Given the description of an element on the screen output the (x, y) to click on. 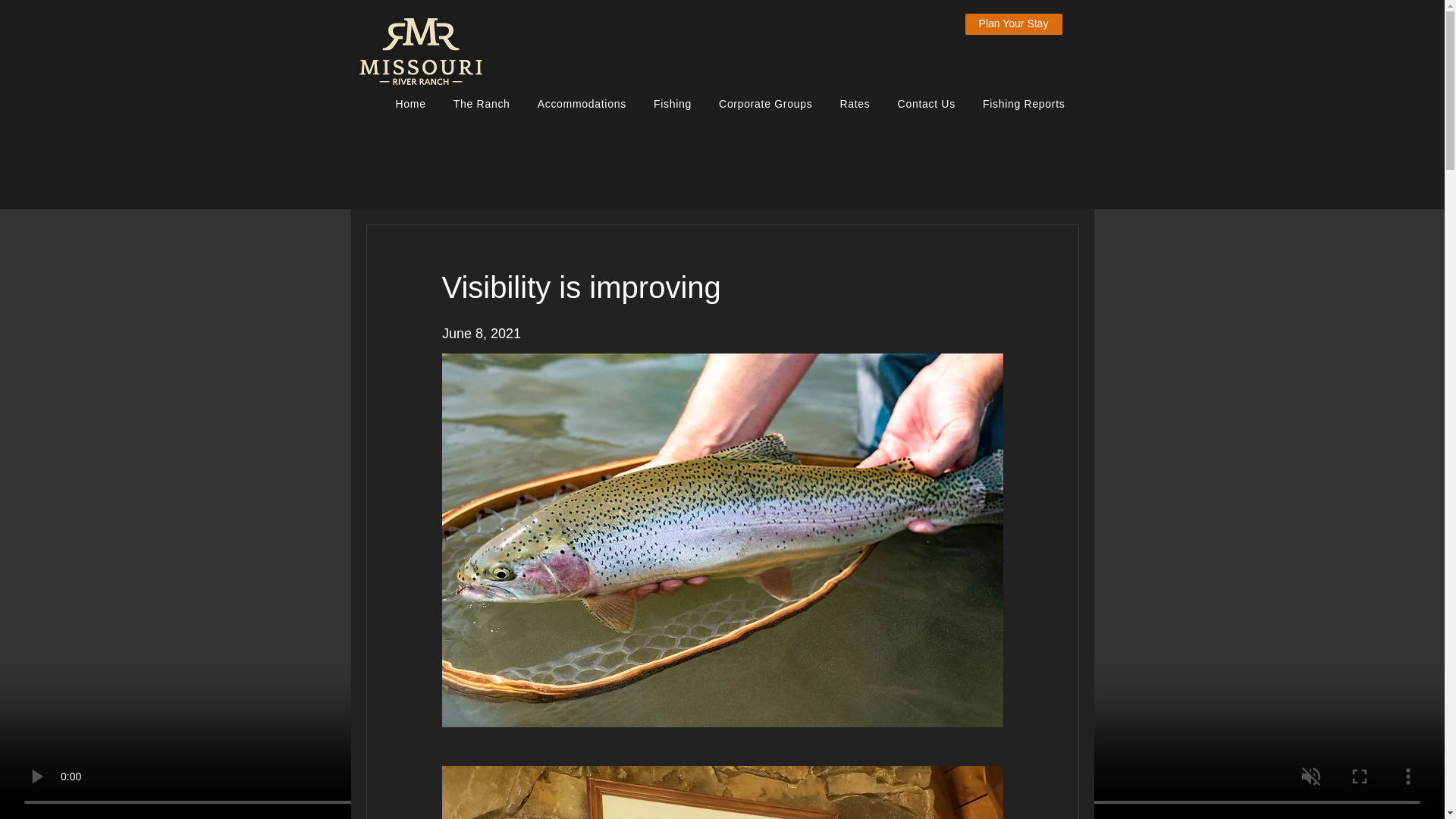
Contact Us (918, 104)
The Ranch (474, 104)
Fishing Reports (1015, 104)
Plan Your Stay (1012, 24)
Rates (847, 104)
Corporate Groups (757, 104)
Home (402, 104)
Fishing (664, 104)
Accommodations (573, 104)
